Given the description of an element on the screen output the (x, y) to click on. 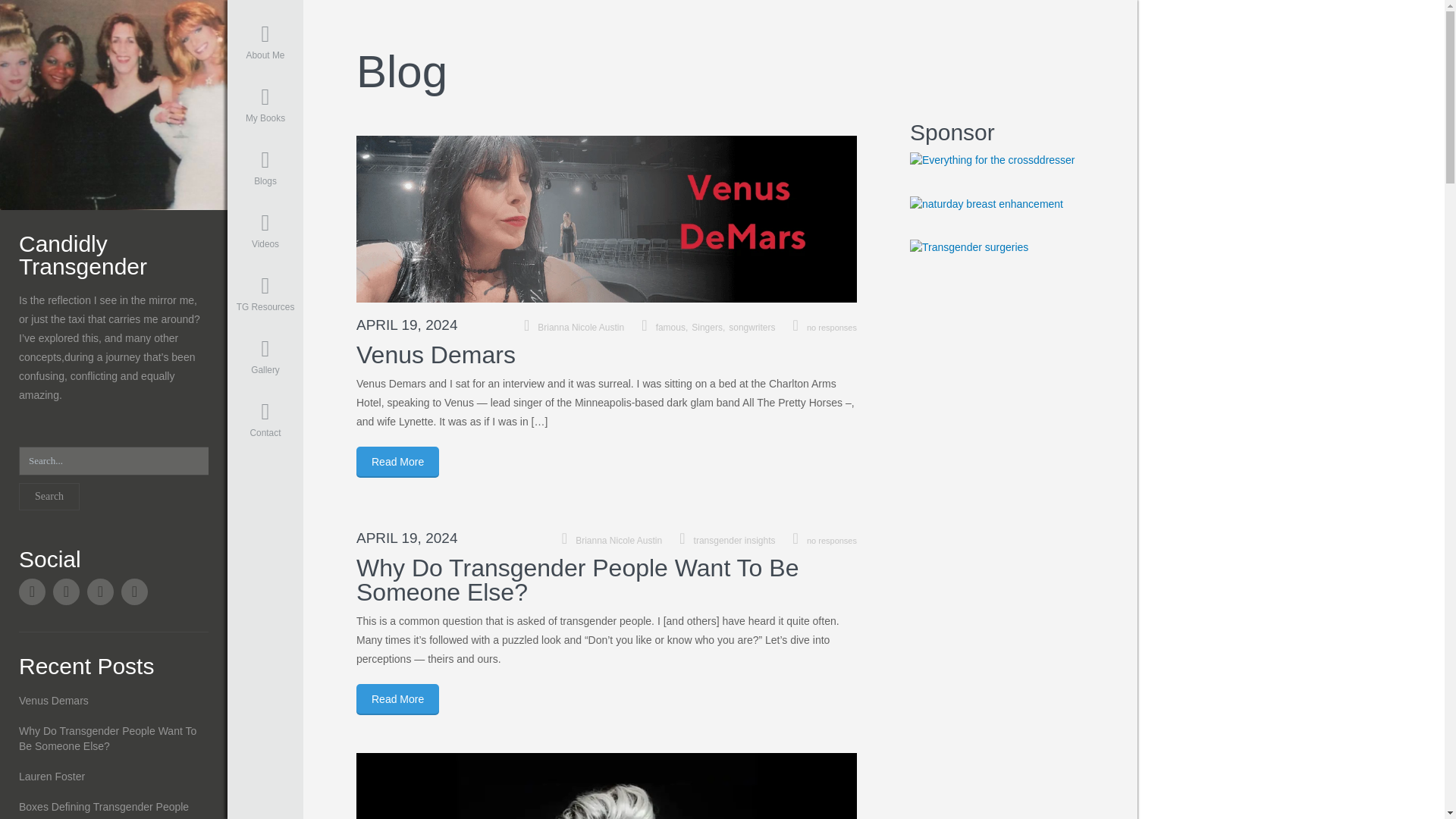
Brianna Nicole Austin (618, 540)
Venus Demars (435, 354)
Read More (397, 461)
Why Do Transgender People Want To Be Someone Else? (576, 580)
transgender insights (735, 540)
Read More (397, 698)
songwriters (751, 327)
Brianna Nicole Austin (113, 103)
famous, (674, 327)
Brianna Nicole Austin (580, 327)
Search (49, 496)
Singers, (710, 327)
